Given the description of an element on the screen output the (x, y) to click on. 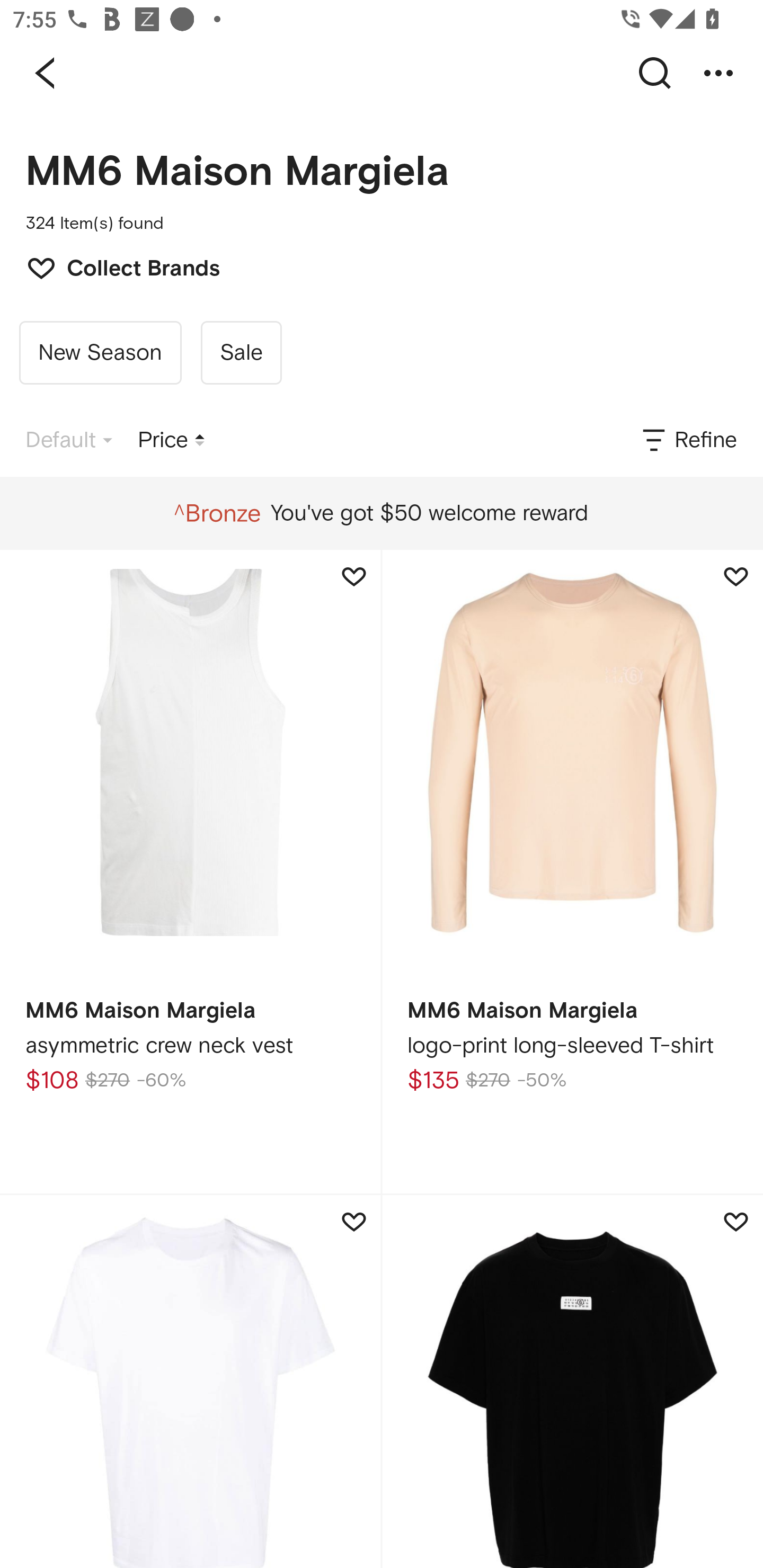
Collect Brands (114, 266)
New Season (100, 352)
Sale (240, 352)
Default (68, 440)
Price (171, 440)
Refine (688, 440)
You've got $50 welcome reward (381, 513)
